Given the description of an element on the screen output the (x, y) to click on. 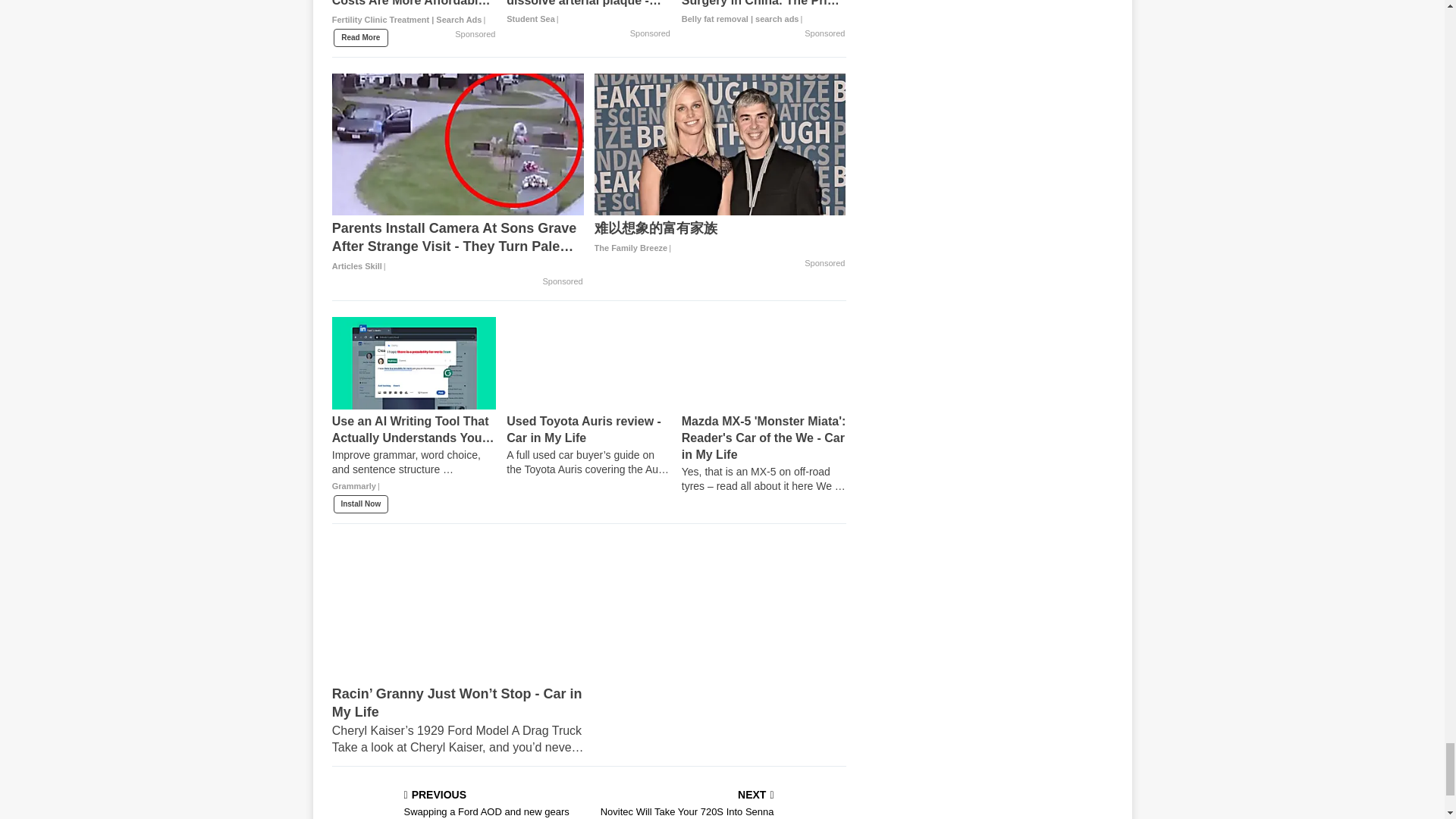
Sponsored (474, 34)
